Given the description of an element on the screen output the (x, y) to click on. 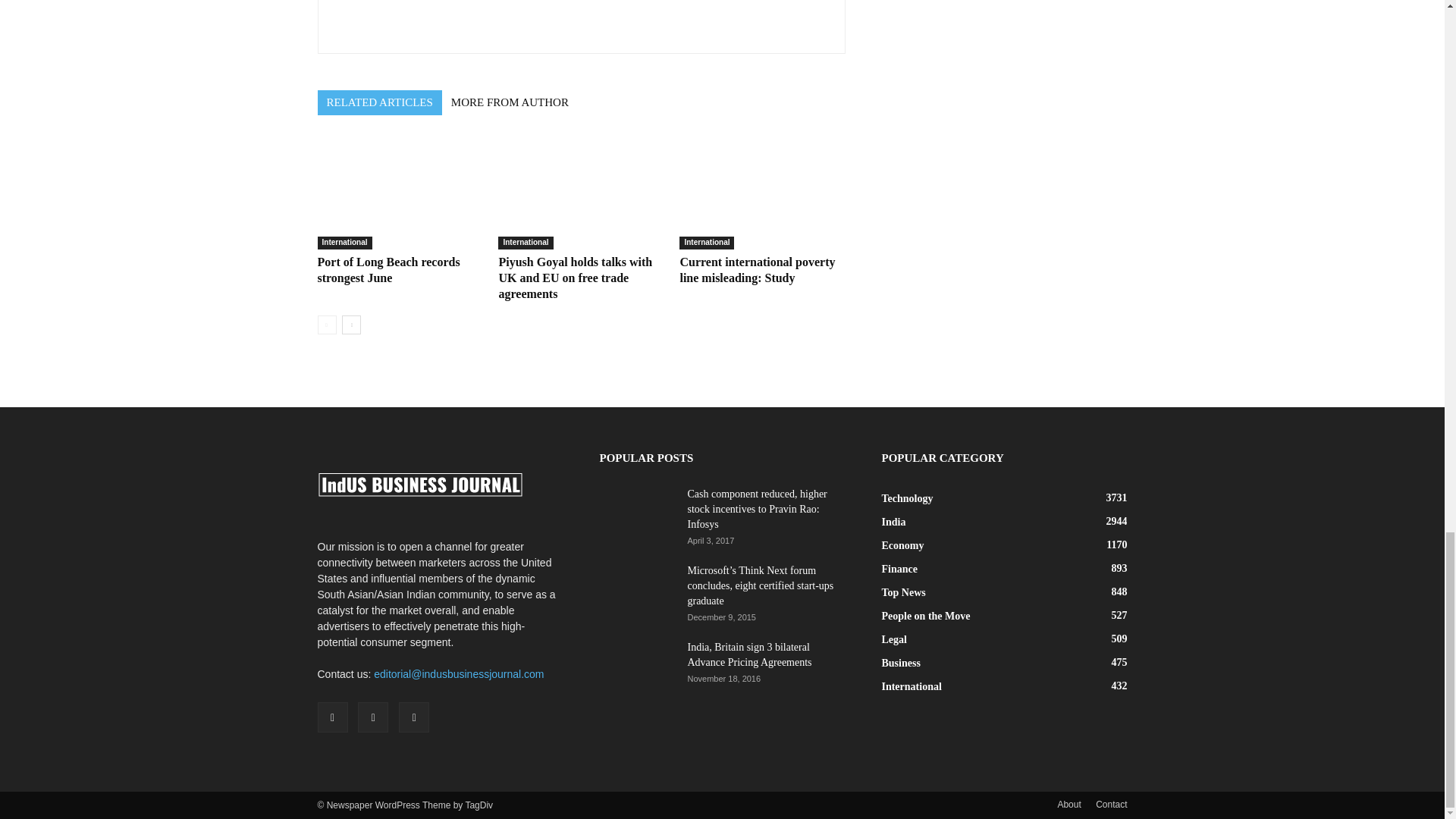
Port of Long Beach records strongest June (388, 269)
Port of Long Beach records strongest June (399, 192)
